Given the description of an element on the screen output the (x, y) to click on. 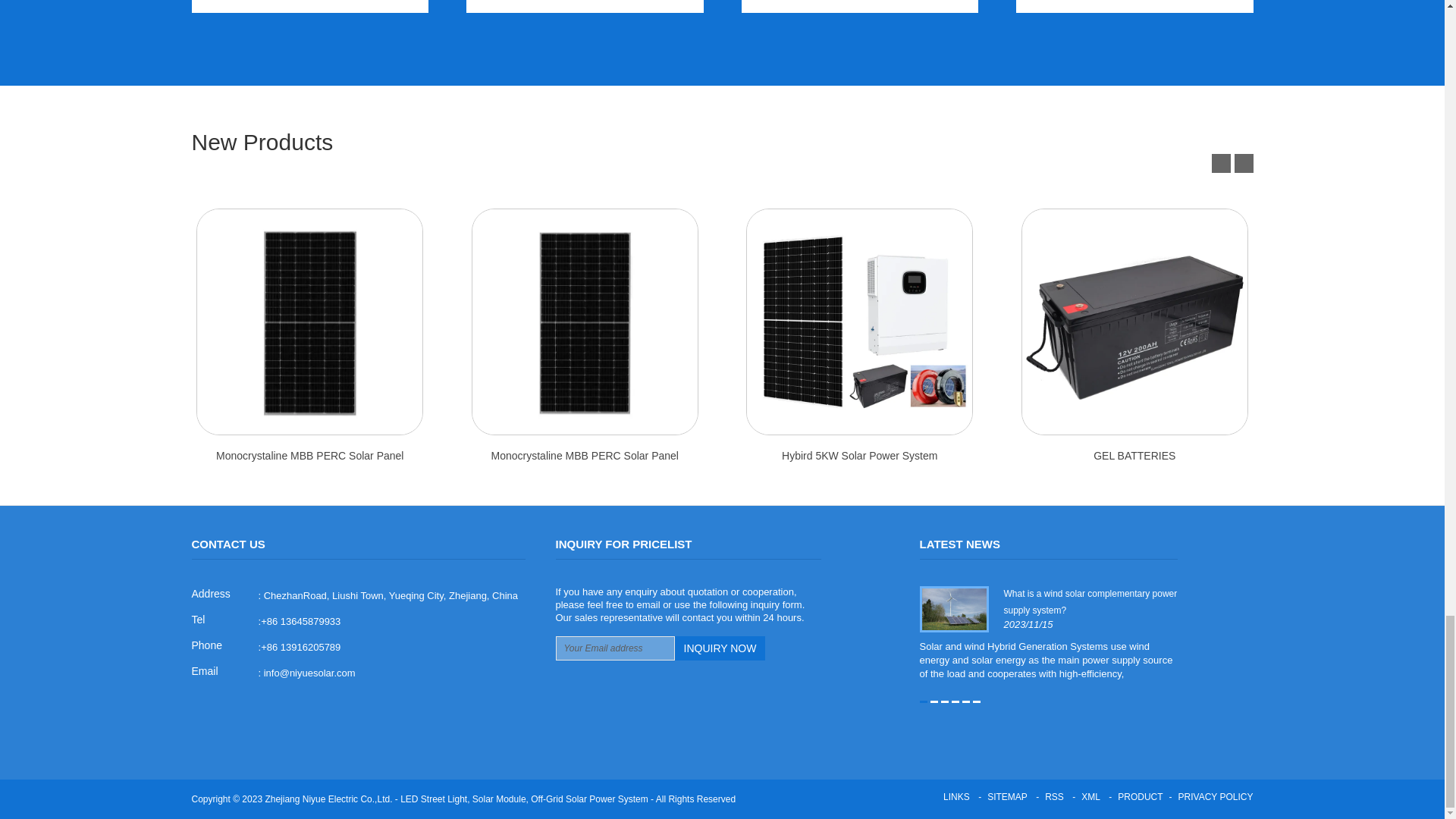
Inquiry Now (720, 648)
Your Email address (614, 648)
